Given the description of an element on the screen output the (x, y) to click on. 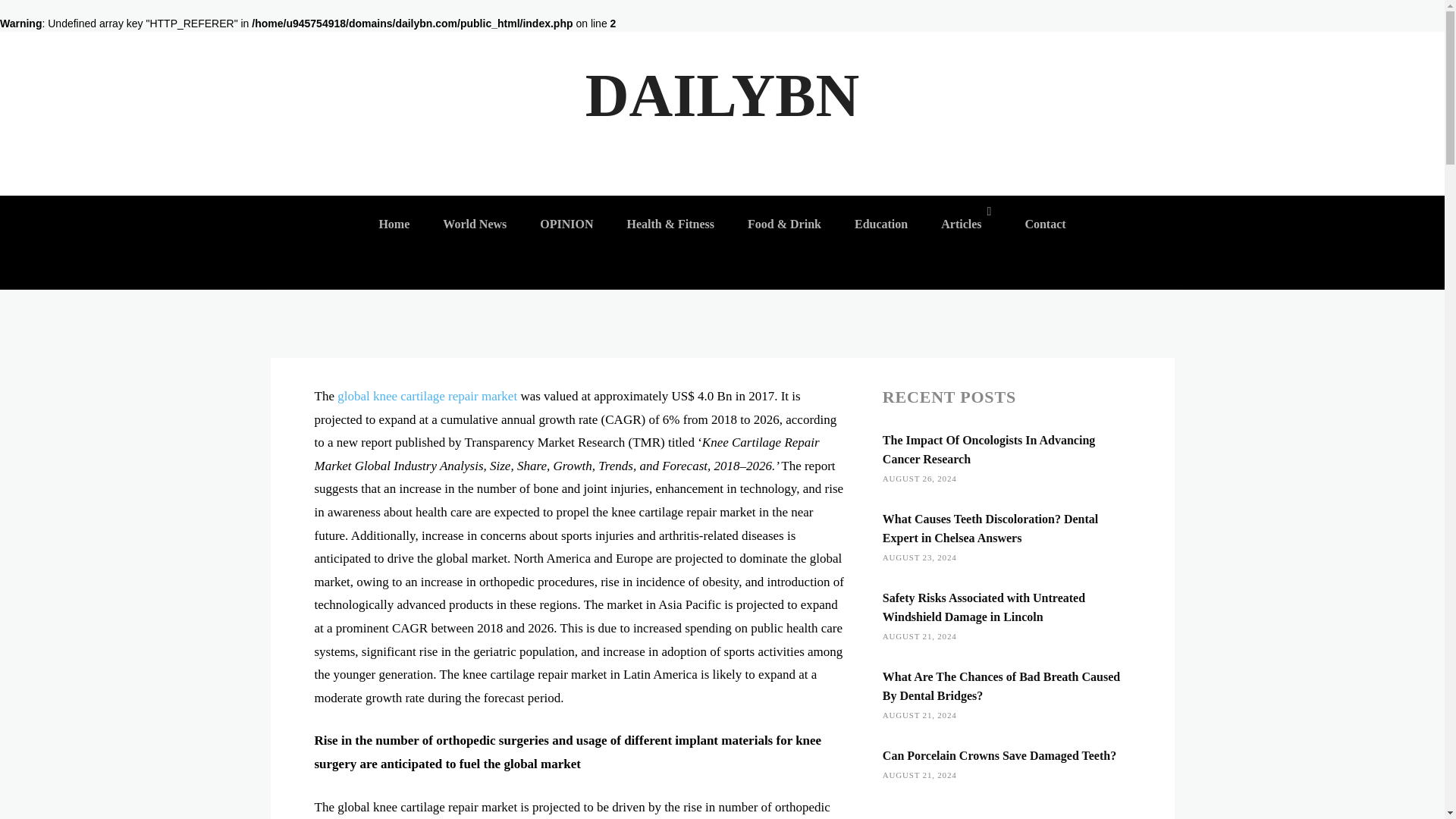
Articles (965, 224)
Contact (1044, 224)
World News (474, 224)
DAILYBN (722, 95)
global knee cartilage repair market (426, 396)
The Impact Of Oncologists In Advancing Cancer Research (988, 450)
ARTICLES (342, 127)
The Impact Of Oncologists In Advancing Cancer Research (988, 450)
